Given the description of an element on the screen output the (x, y) to click on. 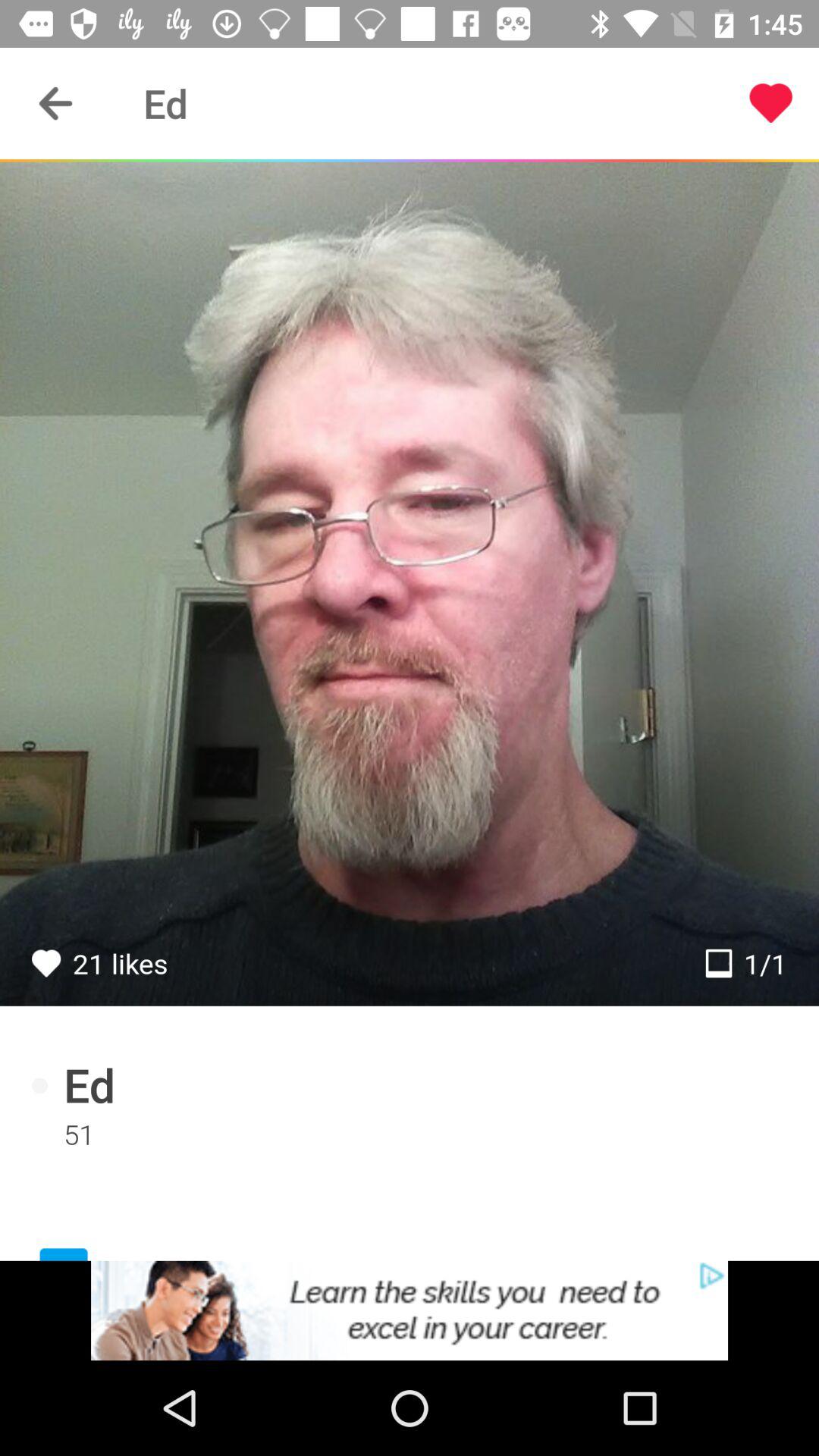
go to previous (55, 103)
